Given the description of an element on the screen output the (x, y) to click on. 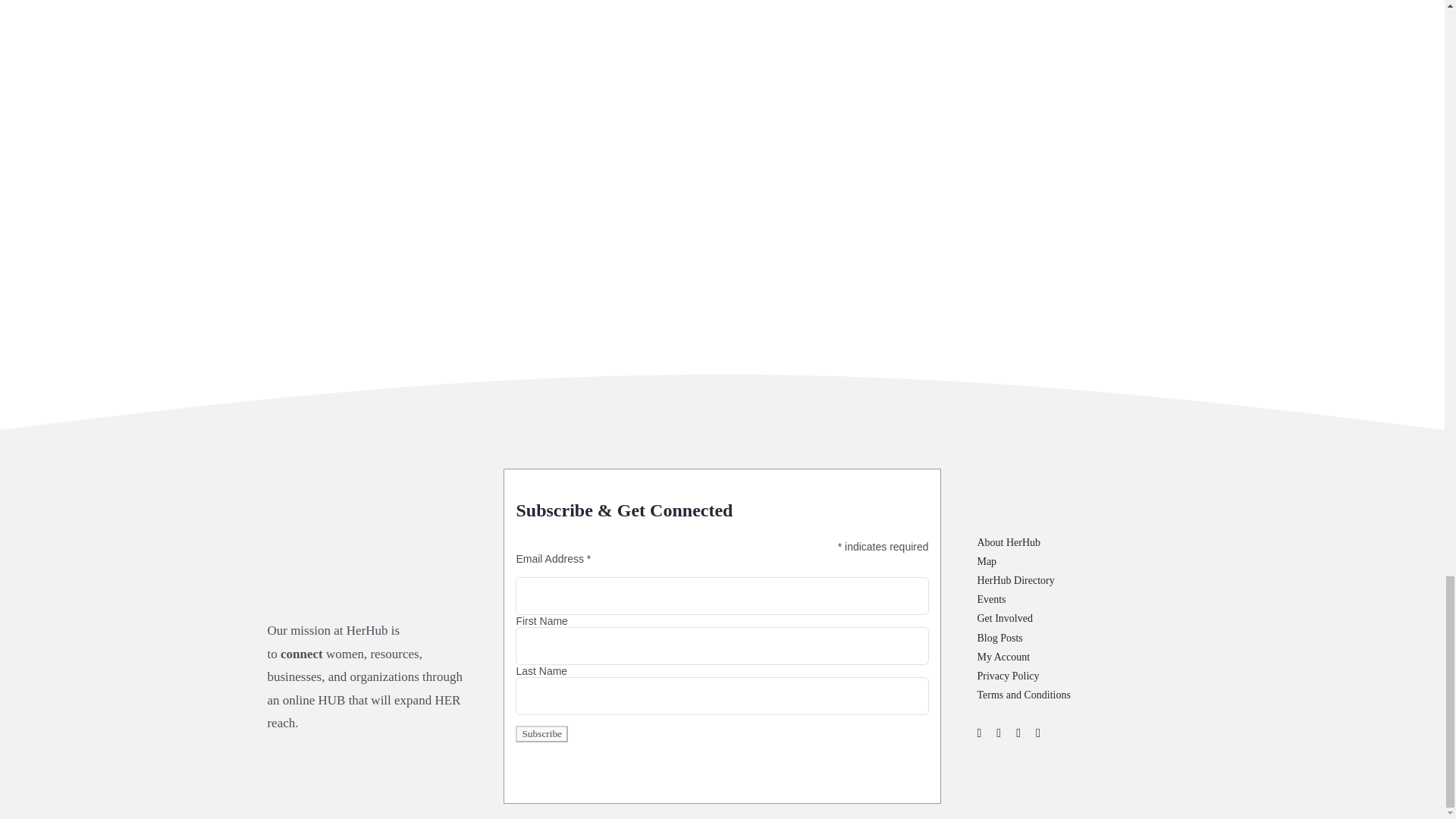
Subscribe (541, 733)
